Given the description of an element on the screen output the (x, y) to click on. 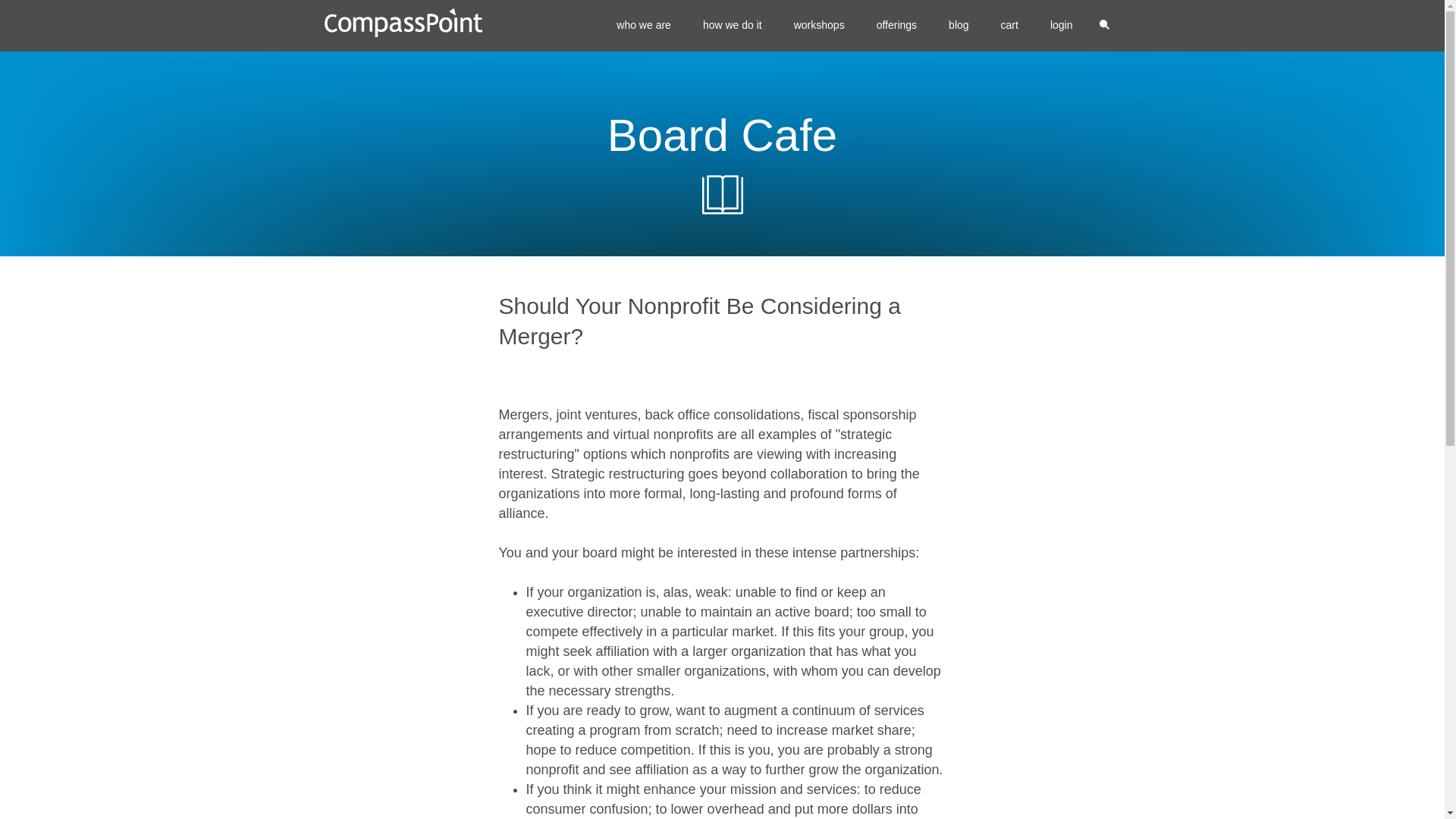
login (1061, 25)
how we do it (732, 25)
who we are (643, 25)
blog (958, 25)
Home (402, 22)
workshops (818, 25)
offerings (896, 25)
cart (1009, 25)
